Given the description of an element on the screen output the (x, y) to click on. 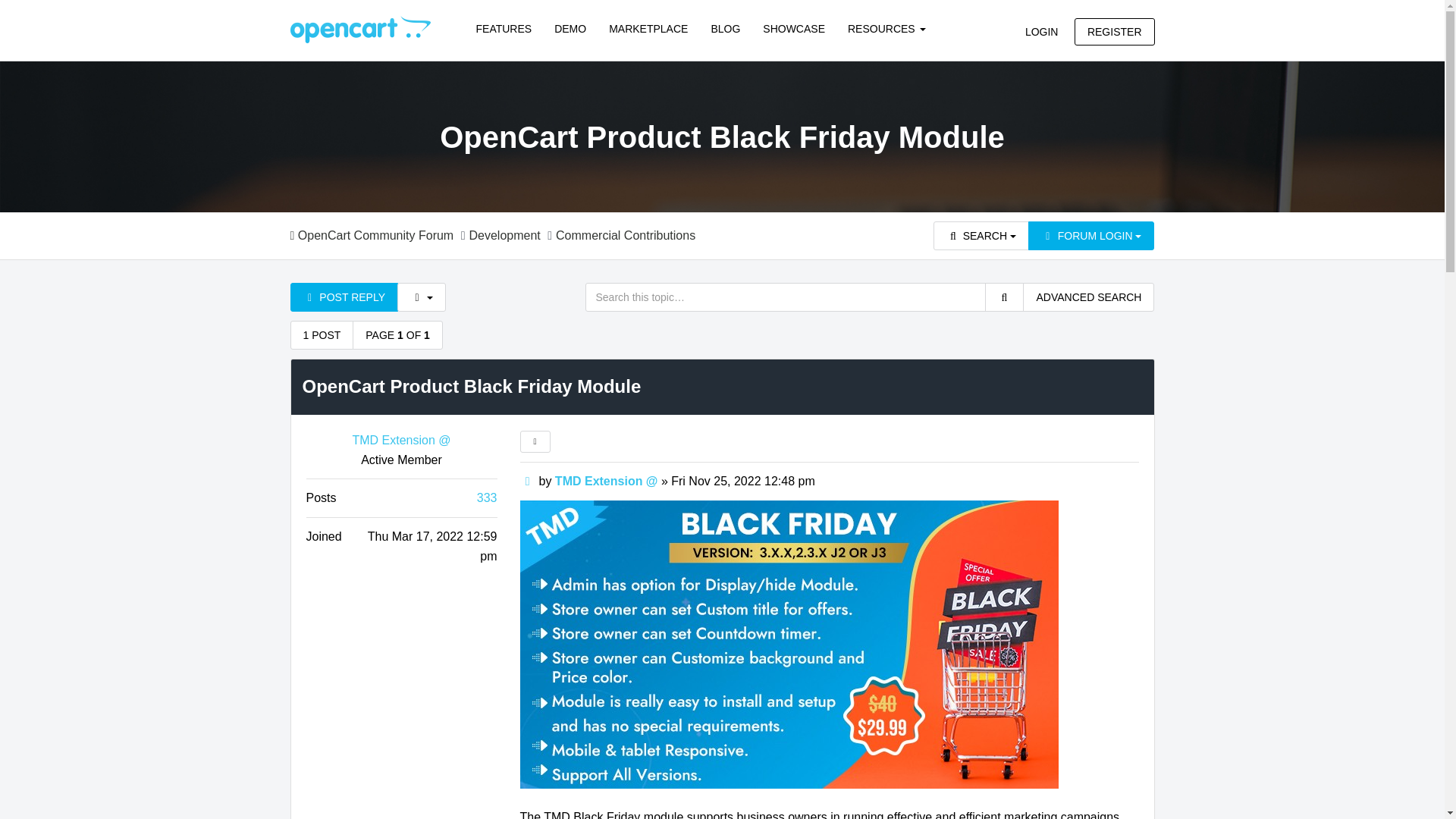
SHOWCASE (793, 28)
FORUM LOGIN (1090, 235)
SEARCH (981, 235)
Development (504, 235)
View the advanced search options (981, 235)
MARKETPLACE (647, 28)
Advanced search (1088, 297)
LOGIN (1041, 31)
Commercial Contributions (625, 235)
OpenCart Community Forum (370, 235)
Post a reply (343, 297)
RESOURCES (886, 28)
FEATURES (503, 28)
Search (1003, 297)
REGISTER (1114, 31)
